Given the description of an element on the screen output the (x, y) to click on. 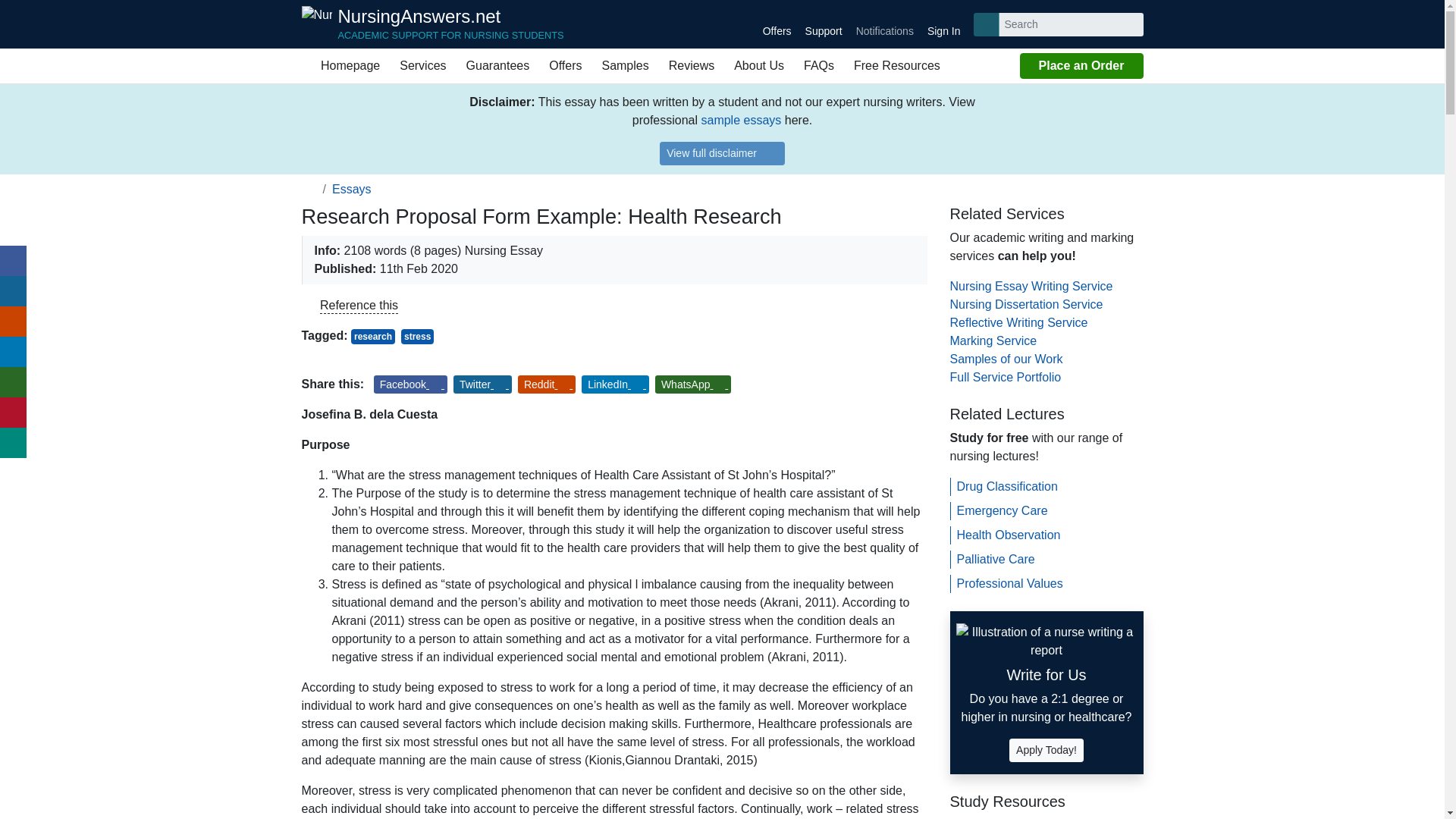
Services (422, 65)
Offers (564, 65)
About Us (758, 65)
Offers (776, 23)
Guarantees (498, 65)
Notifications (884, 23)
View full disclaimer (721, 153)
Sign In (944, 23)
Reviews (691, 65)
Support (822, 23)
